Given the description of an element on the screen output the (x, y) to click on. 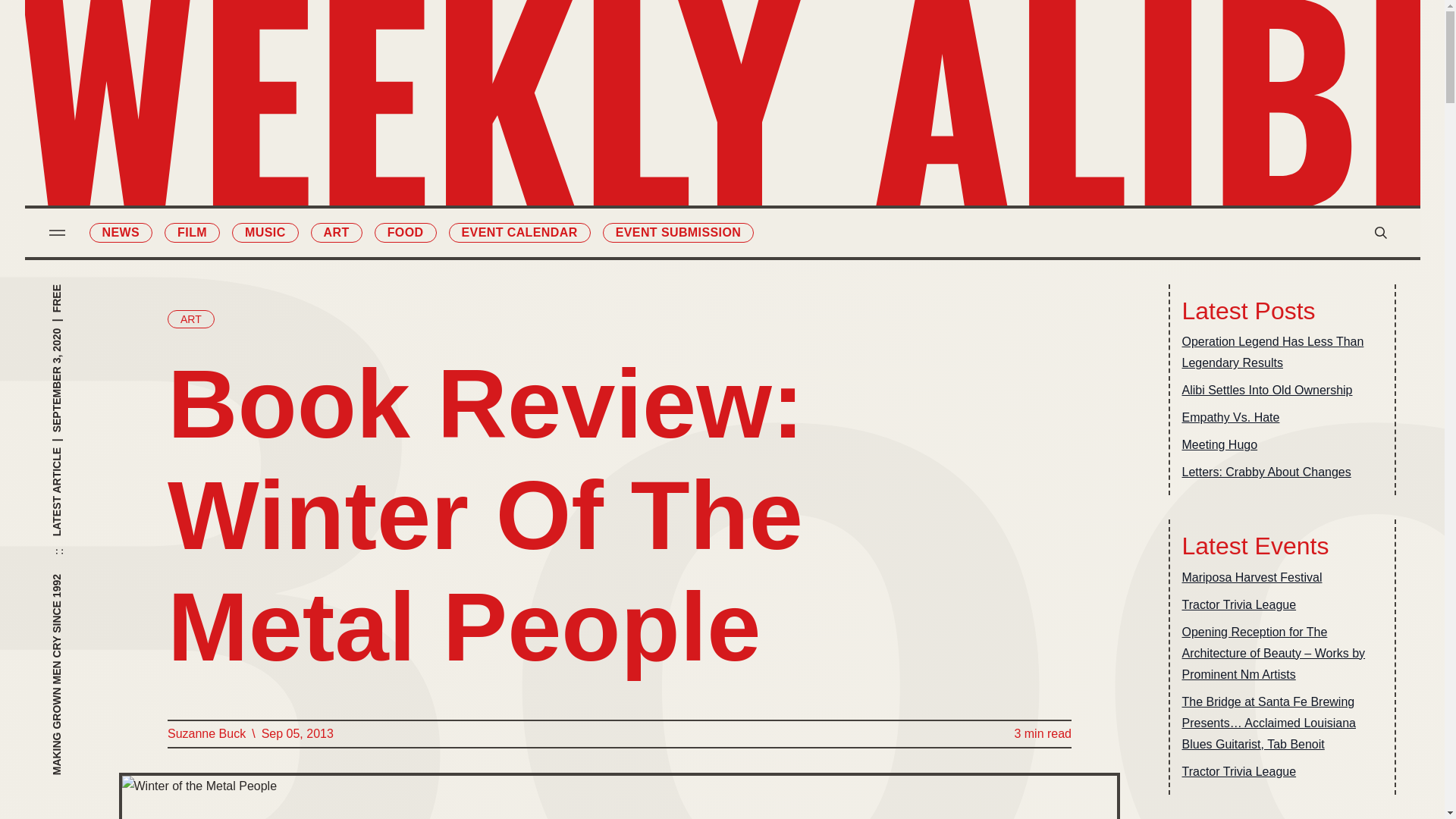
Suzanne Buck (205, 733)
BUSINESS (803, 115)
MOVIE REVIEWS (803, 51)
NEWS (120, 232)
FILM (640, 83)
CANNABIS (640, 210)
NEWS (640, 51)
MUSIC (264, 232)
FILM (191, 232)
BOOK REVIEWS (803, 83)
EVENTS (803, 147)
ART (336, 232)
EVENT SUBMISSION (678, 232)
FOOD (640, 178)
FOOD (405, 232)
